Given the description of an element on the screen output the (x, y) to click on. 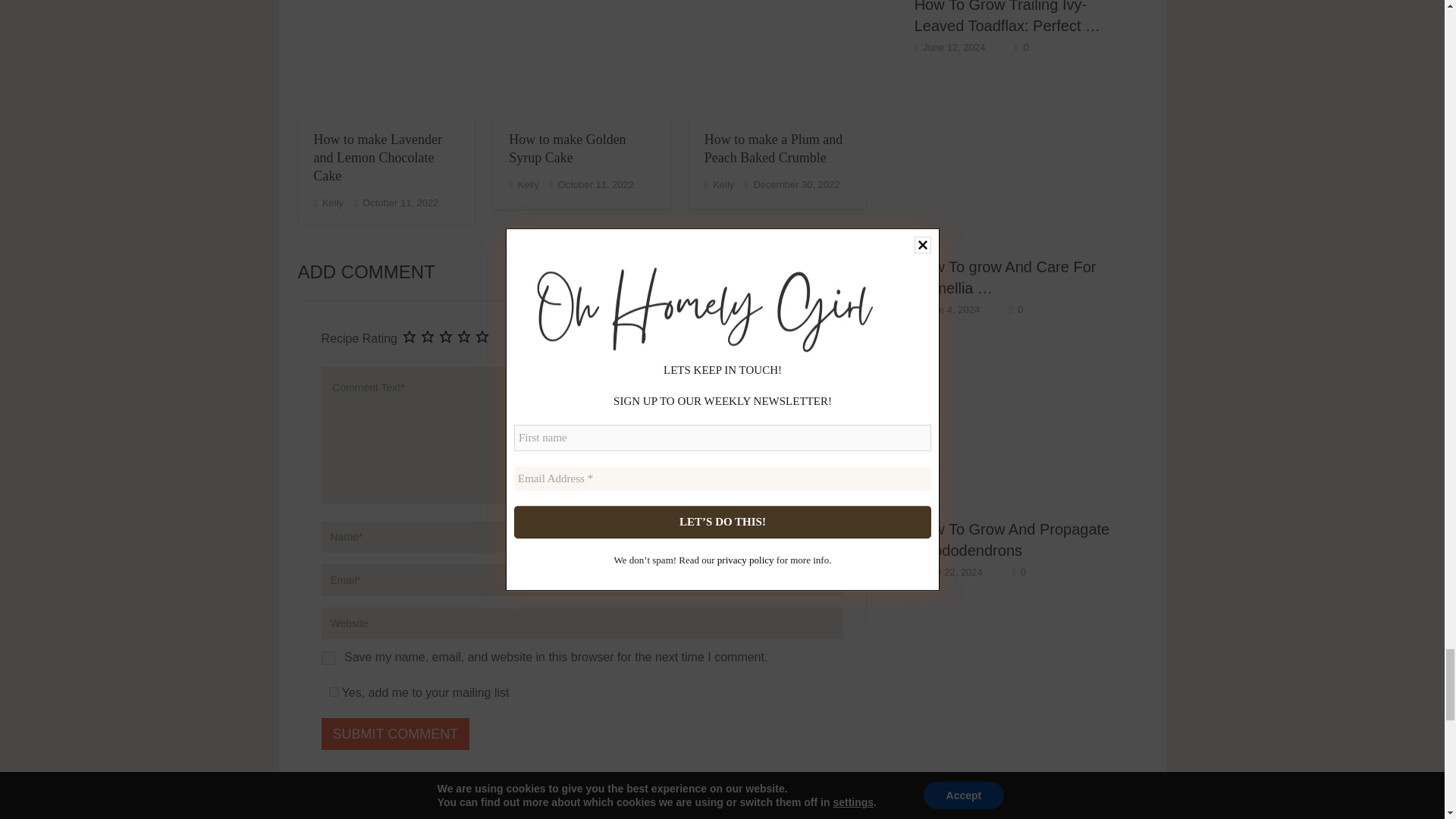
yes (327, 658)
Submit Comment (395, 734)
1 (334, 691)
